Given the description of an element on the screen output the (x, y) to click on. 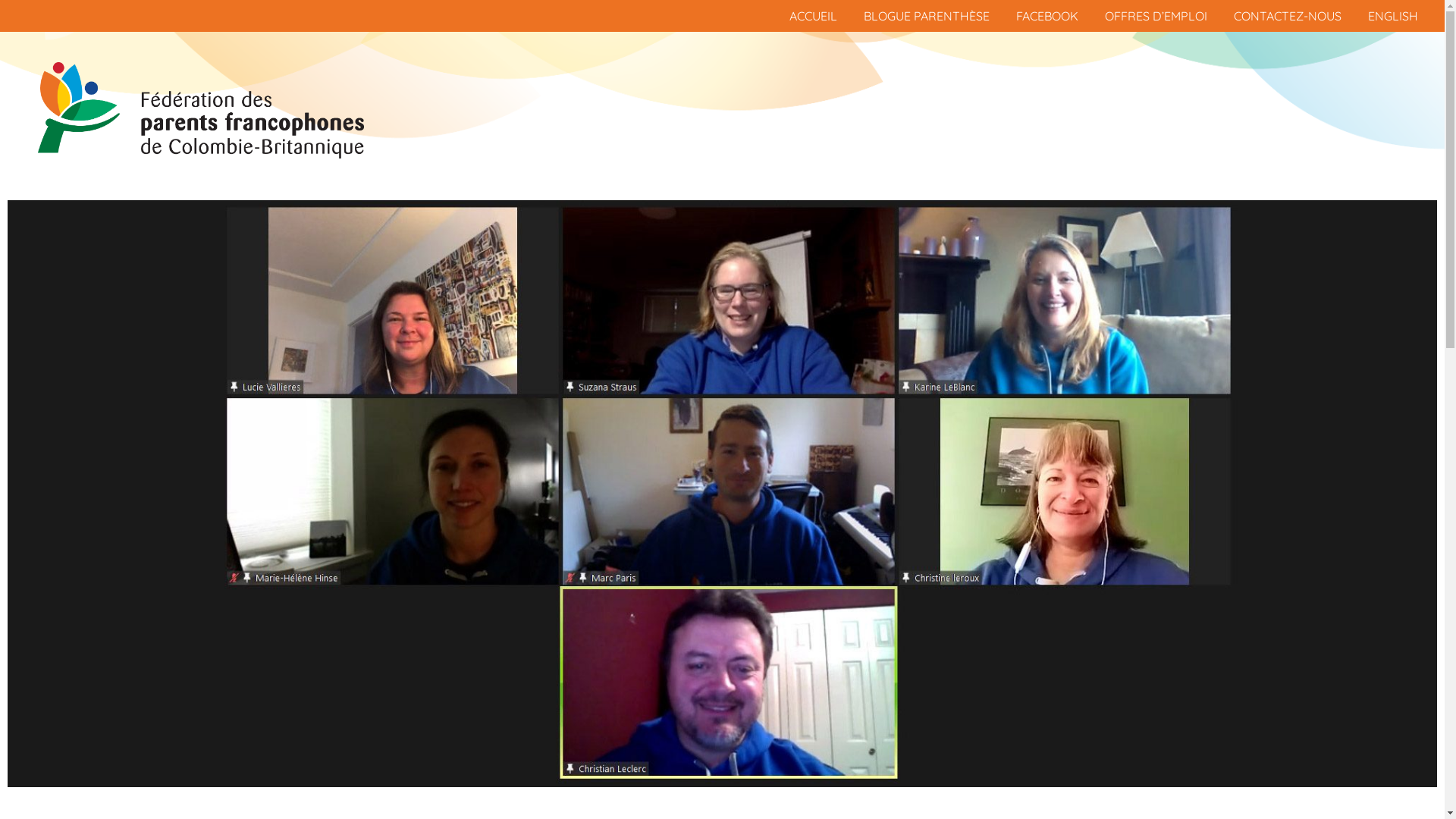
ENGLISH Element type: text (1392, 15)
CONTACTEZ-NOUS Element type: text (1287, 15)
ACCUEIL Element type: text (812, 15)
FACEBOOK Element type: text (1046, 15)
